Given the description of an element on the screen output the (x, y) to click on. 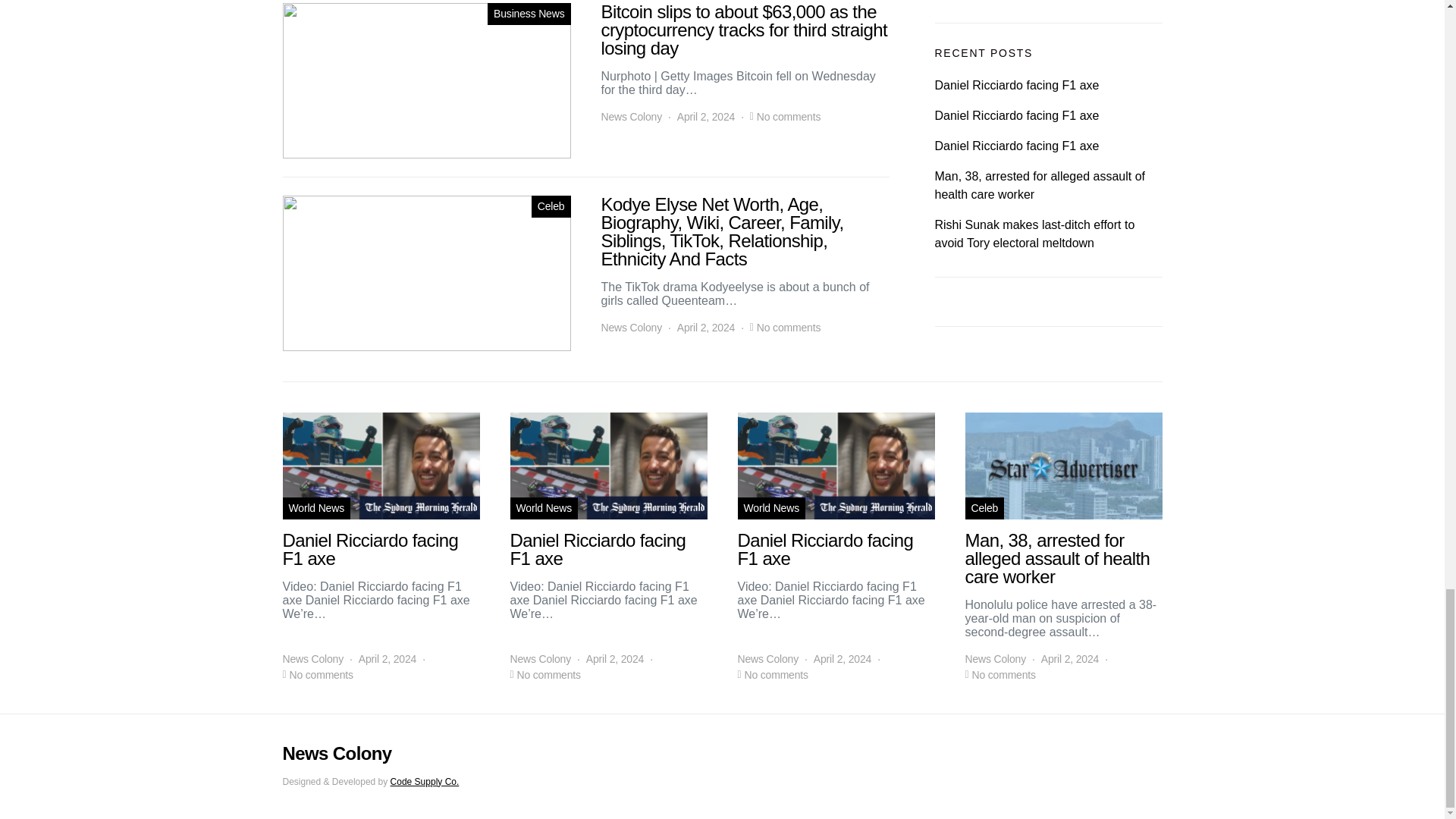
View all posts by News Colony (539, 659)
View all posts by News Colony (766, 659)
View all posts by News Colony (312, 659)
View all posts by News Colony (994, 659)
View all posts by News Colony (630, 327)
View all posts by News Colony (630, 116)
